Given the description of an element on the screen output the (x, y) to click on. 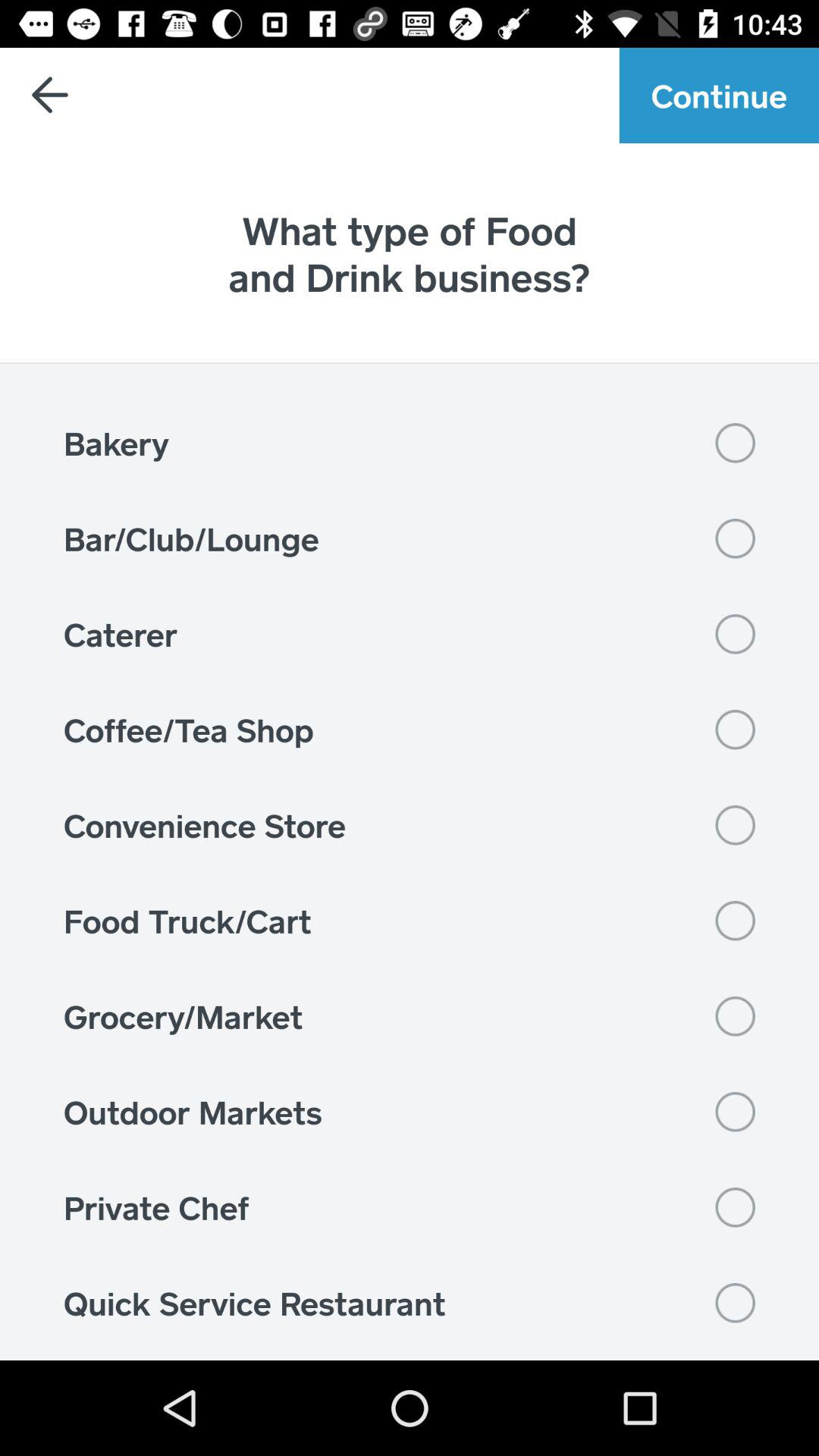
select the item above the grocery/market (409, 920)
